Given the description of an element on the screen output the (x, y) to click on. 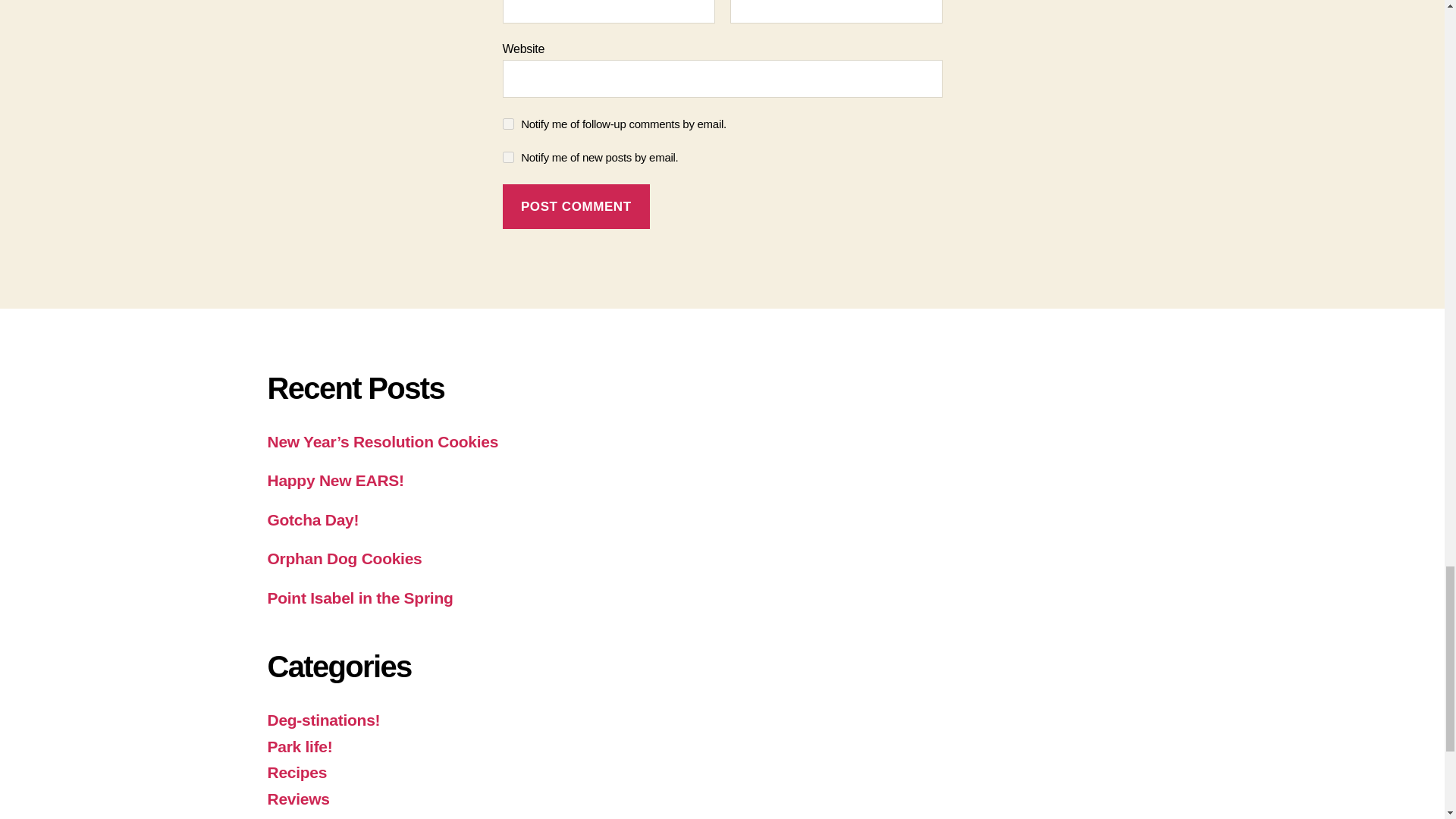
subscribe (507, 123)
Post Comment (575, 206)
Post Comment (575, 206)
Recipes (296, 772)
Gotcha Day! (312, 519)
Reviews (297, 798)
Orphan Dog Cookies (344, 558)
Uncategorized (320, 817)
Happy New EARS! (334, 479)
Park life! (298, 746)
Deg-stinations! (323, 719)
subscribe (507, 156)
Point Isabel in the Spring (359, 597)
